Given the description of an element on the screen output the (x, y) to click on. 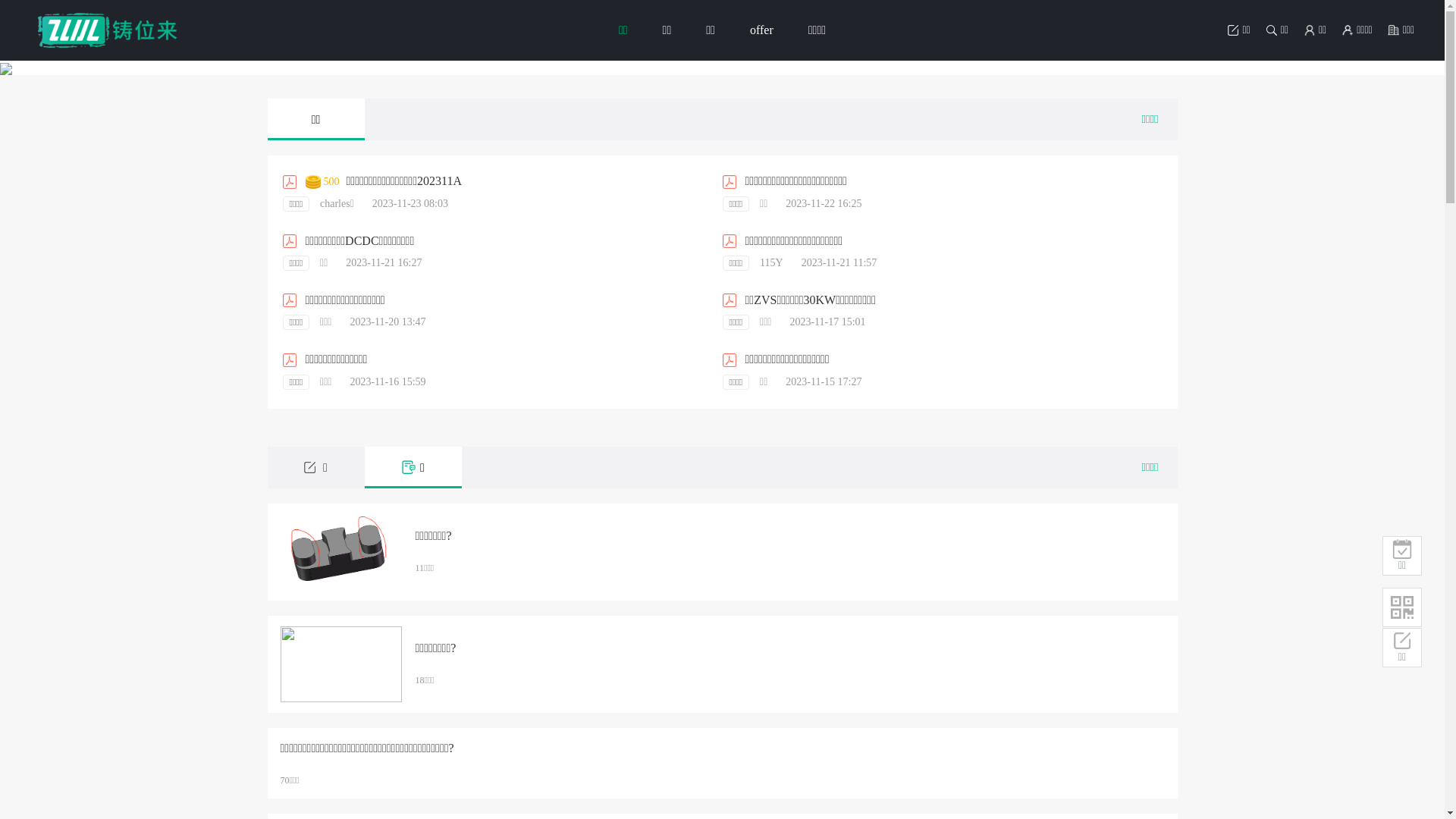
offer Element type: text (761, 29)
